Given the description of an element on the screen output the (x, y) to click on. 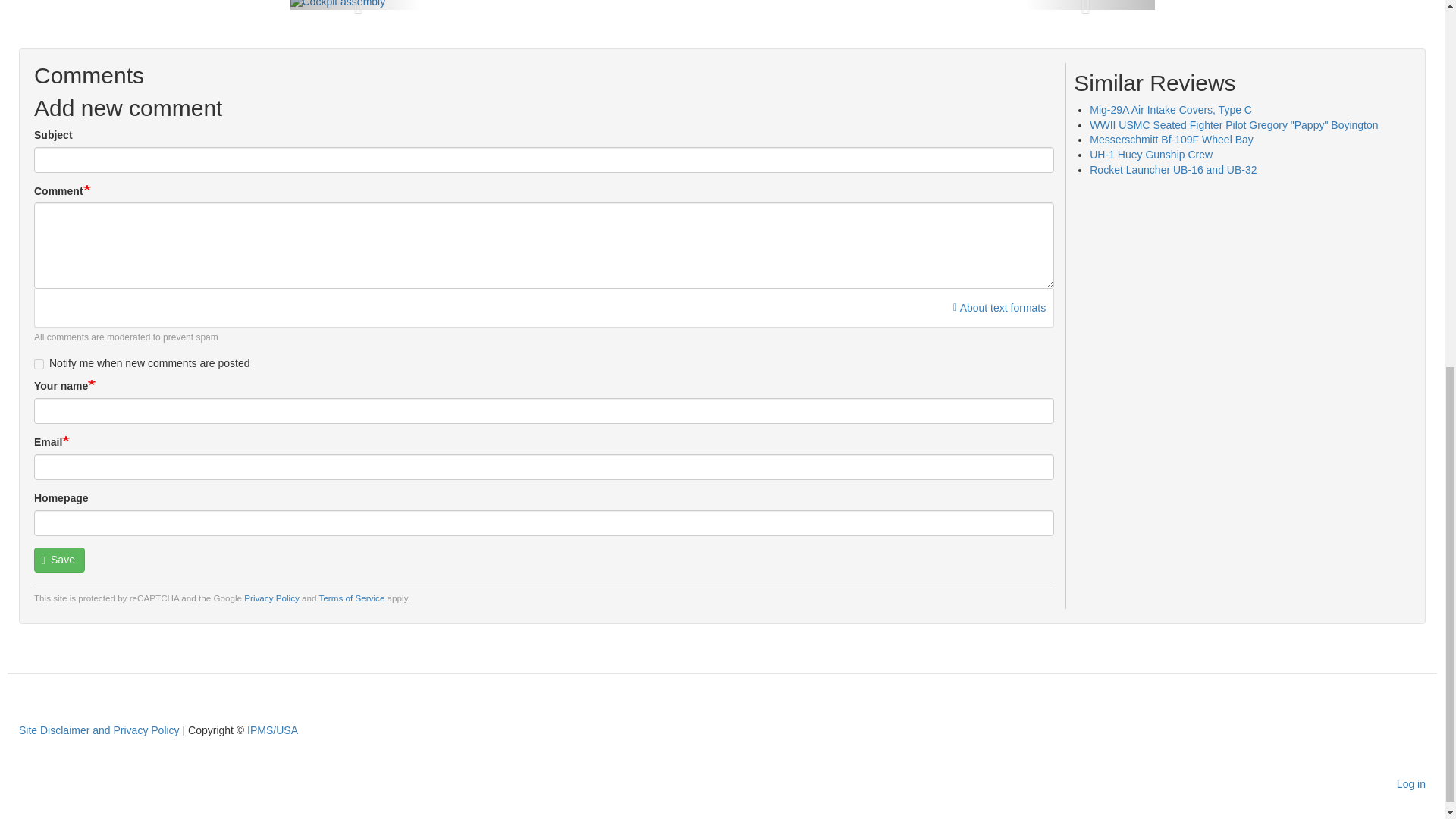
About text formats (999, 307)
Previous (354, 4)
1 (38, 364)
Next (1089, 4)
Save (58, 559)
Cockpit assembly (337, 3)
